Given the description of an element on the screen output the (x, y) to click on. 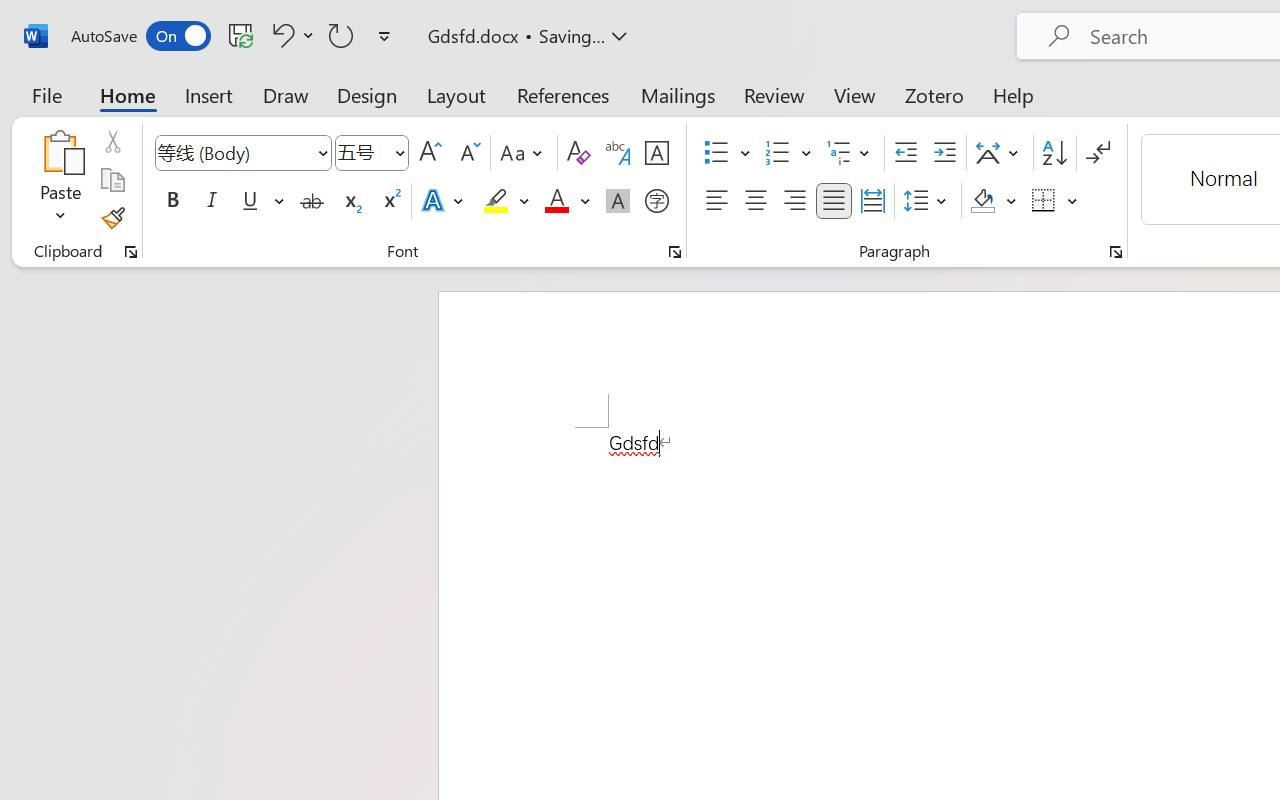
Cut (112, 141)
Multilevel List (850, 153)
Change Case (524, 153)
Line and Paragraph Spacing (927, 201)
Sort... (1054, 153)
Character Shading (618, 201)
